Given the description of an element on the screen output the (x, y) to click on. 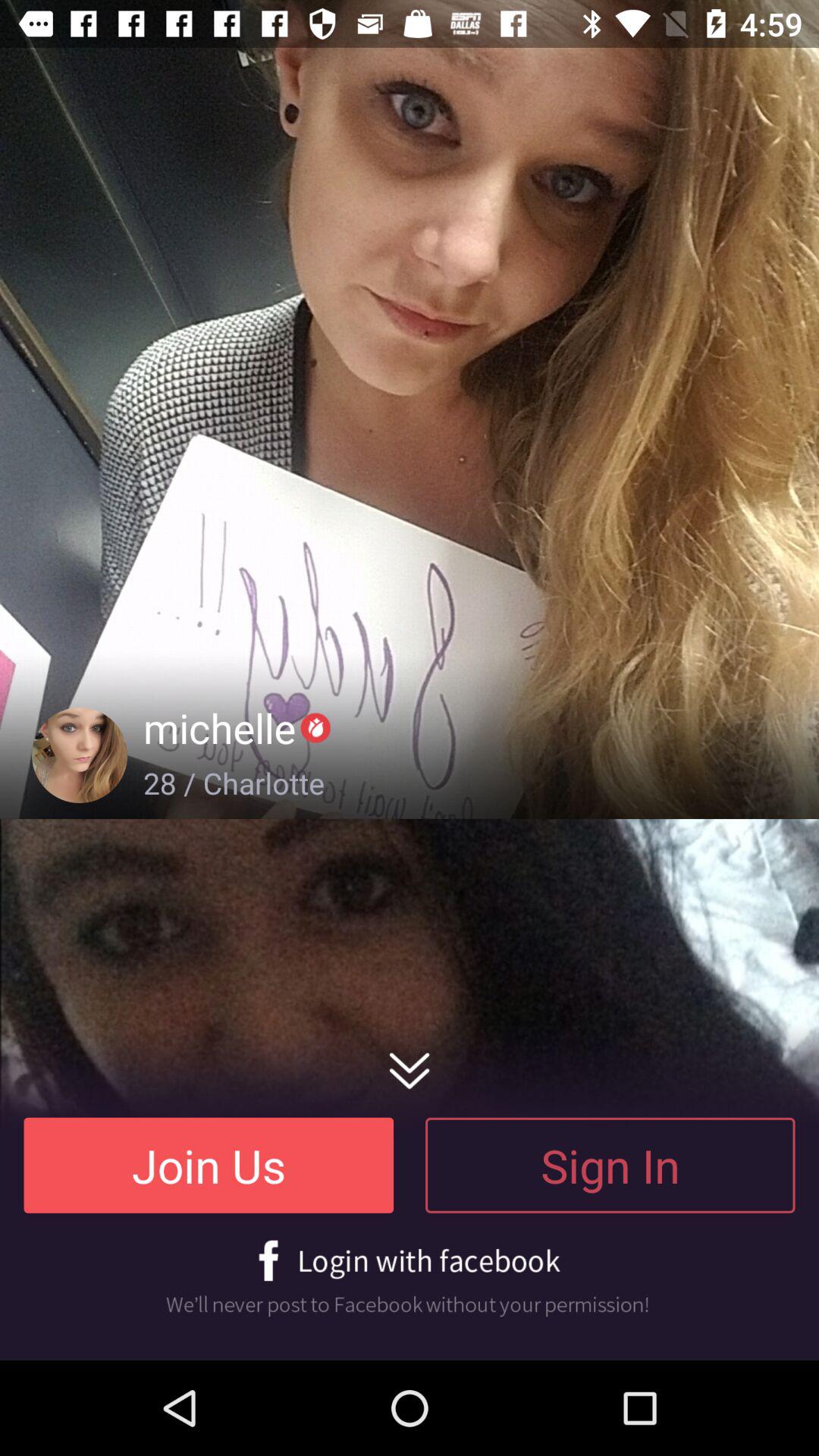
select the icon next to sign in item (208, 1165)
